Given the description of an element on the screen output the (x, y) to click on. 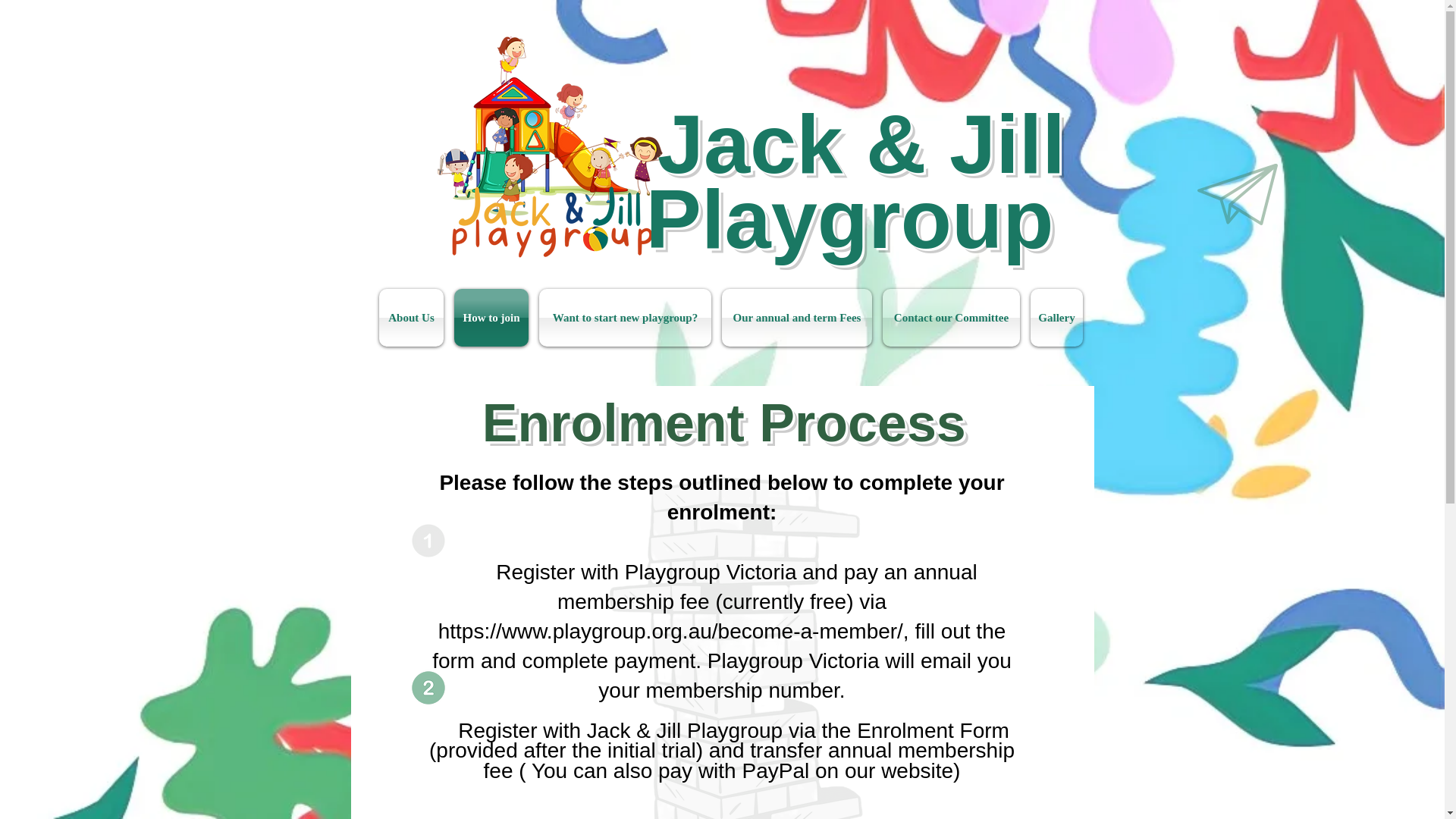
Want to start new playgroup? (625, 317)
Screen Shot 2023-09-2 6 at 11.01.47 pm.pn (553, 146)
Contact our Committee (951, 317)
How to join (491, 317)
Gallery (1056, 317)
Our annual and term Fees (796, 317)
About Us (411, 317)
